Given the description of an element on the screen output the (x, y) to click on. 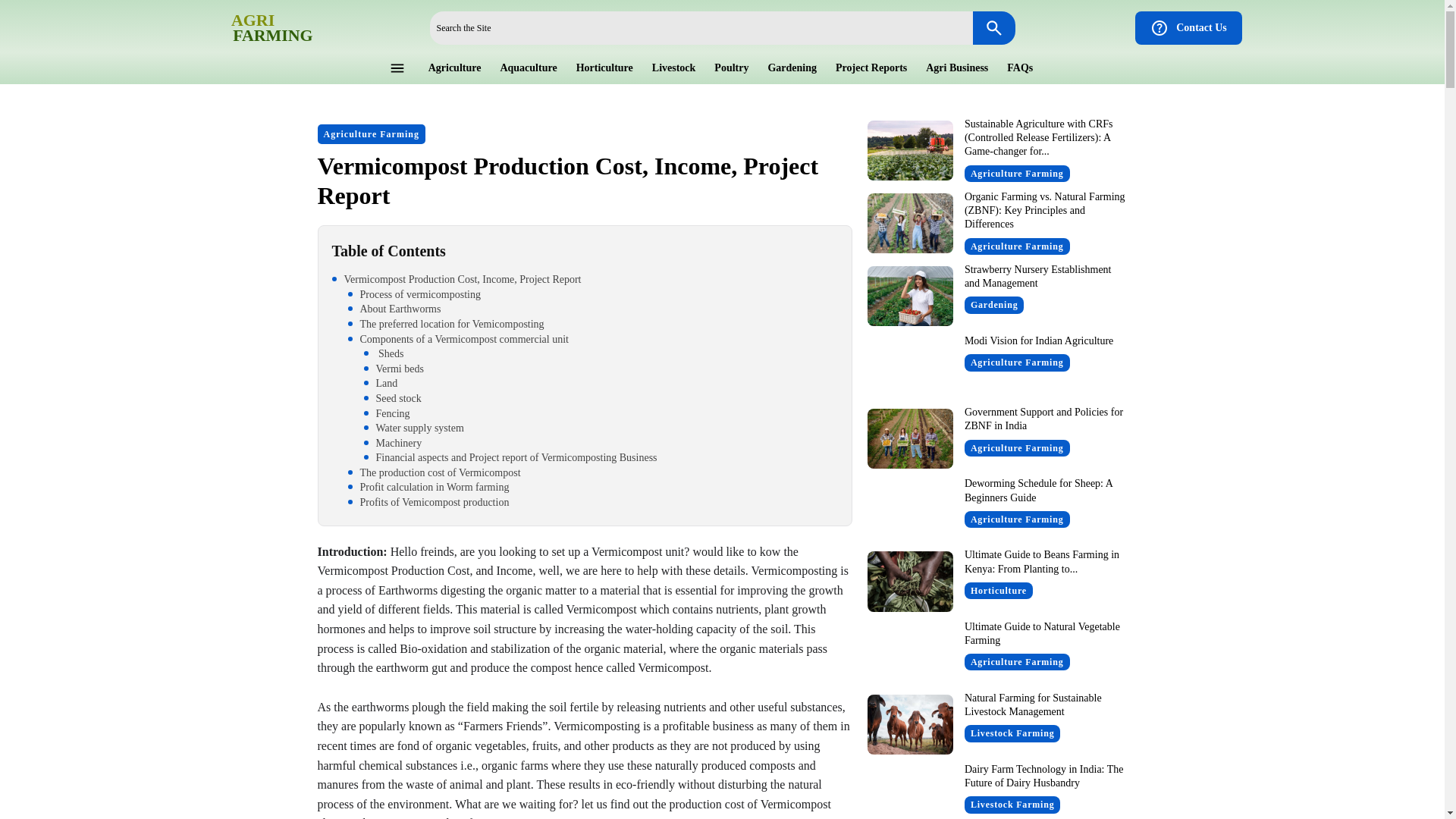
Modi Vision for Indian Agriculture (1038, 340)
Strawberry Nursery Establishment and Management (1037, 276)
Contact Us (1188, 28)
Modi Vision for Indian Agriculture (255, 27)
Contact Us (255, 27)
Government Support and Policies for ZBNF in India (910, 367)
Strawberry Nursery Establishment and Management (1188, 28)
Government Support and Policies for ZBNF in India (1042, 418)
